Given the description of an element on the screen output the (x, y) to click on. 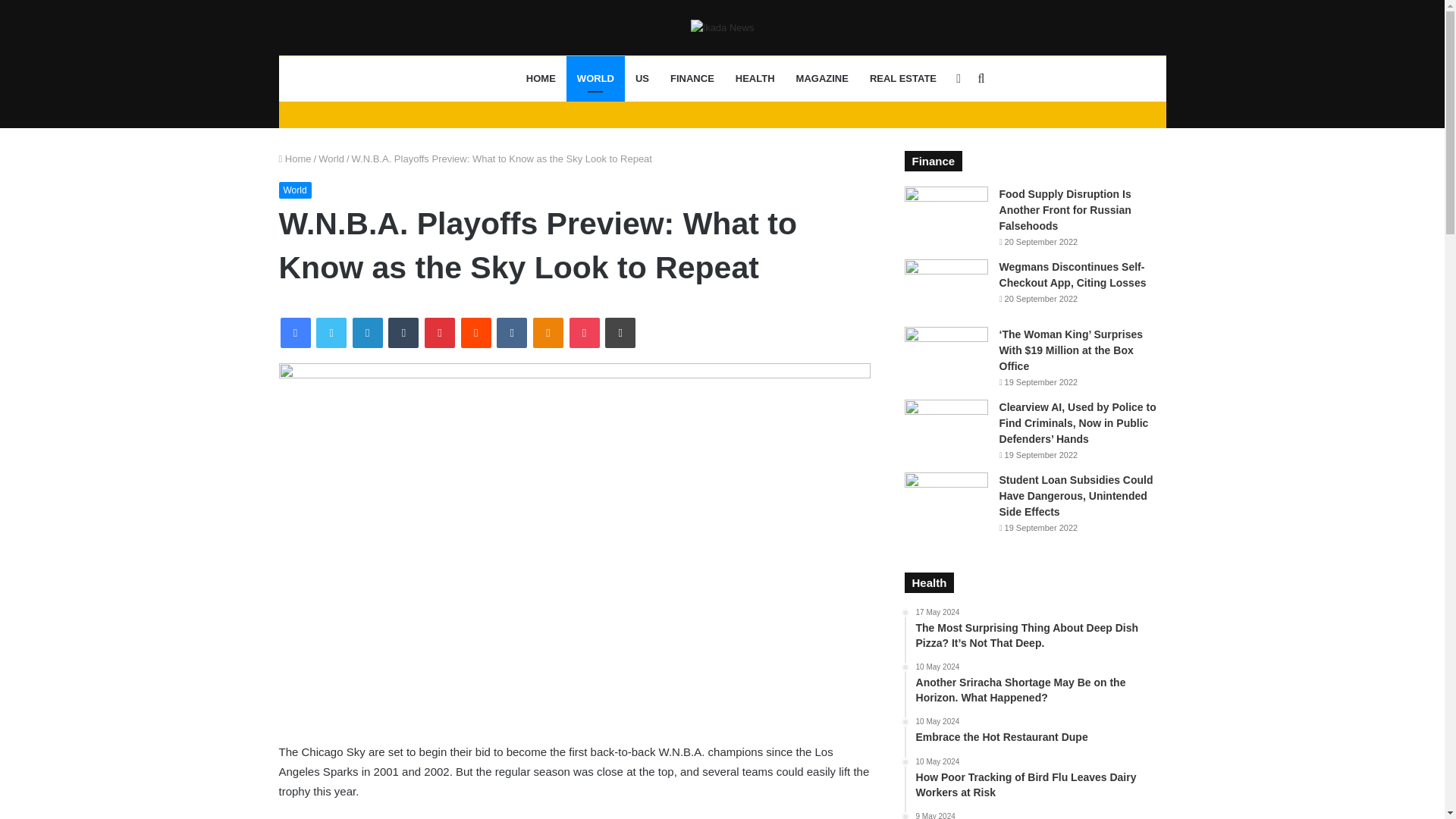
FINANCE (692, 78)
MAGAZINE (822, 78)
VKontakte (511, 332)
Odnoklassniki (547, 332)
HEALTH (755, 78)
Tumblr (403, 332)
Sidebar (958, 78)
VKontakte (511, 332)
Print (619, 332)
World (330, 158)
Pinterest (439, 332)
Twitter (330, 332)
Facebook (296, 332)
WORLD (595, 78)
Tumblr (403, 332)
